Given the description of an element on the screen output the (x, y) to click on. 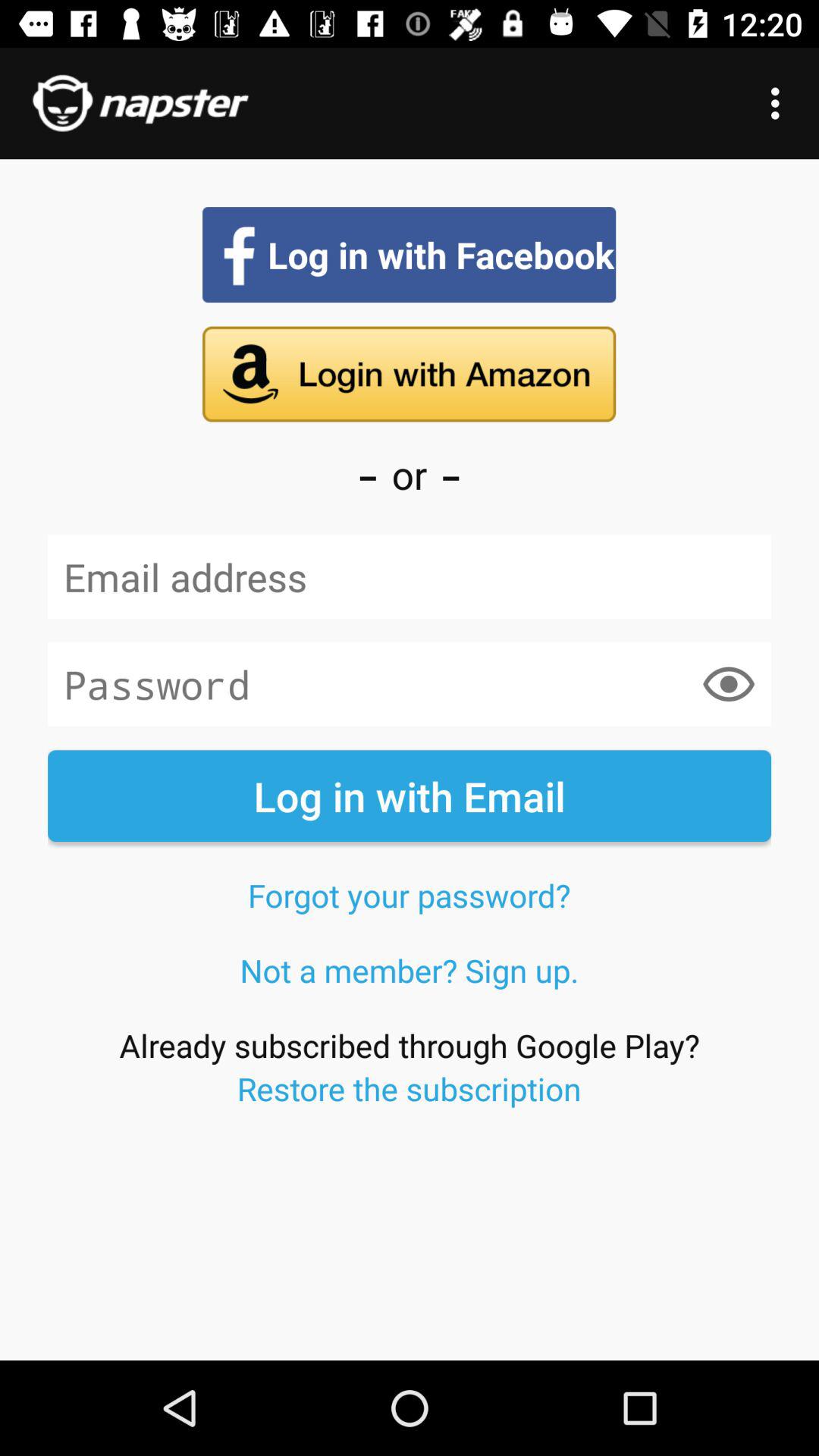
sign in with amazon (408, 374)
